Given the description of an element on the screen output the (x, y) to click on. 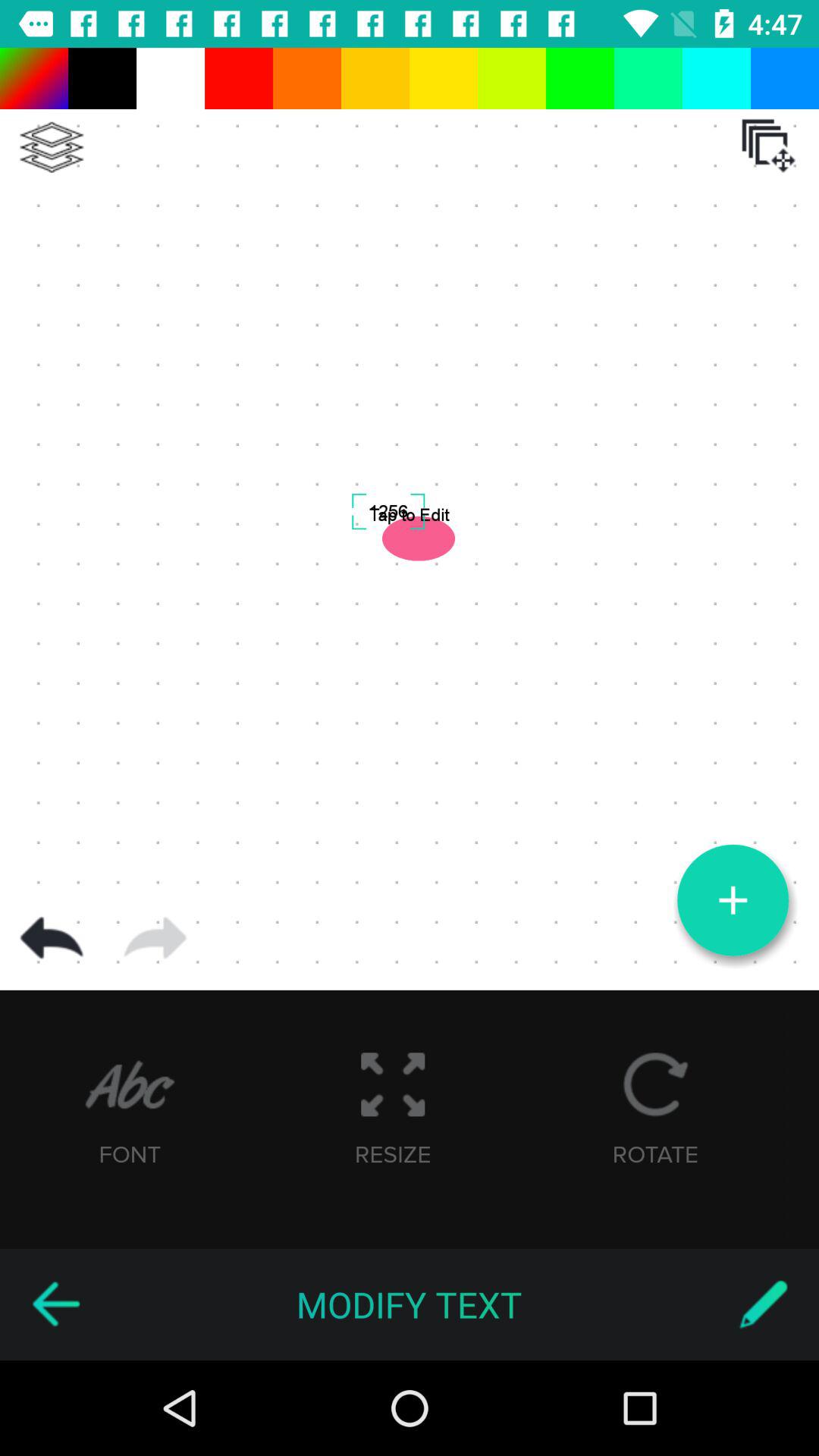
select edit option (763, 1304)
